Given the description of an element on the screen output the (x, y) to click on. 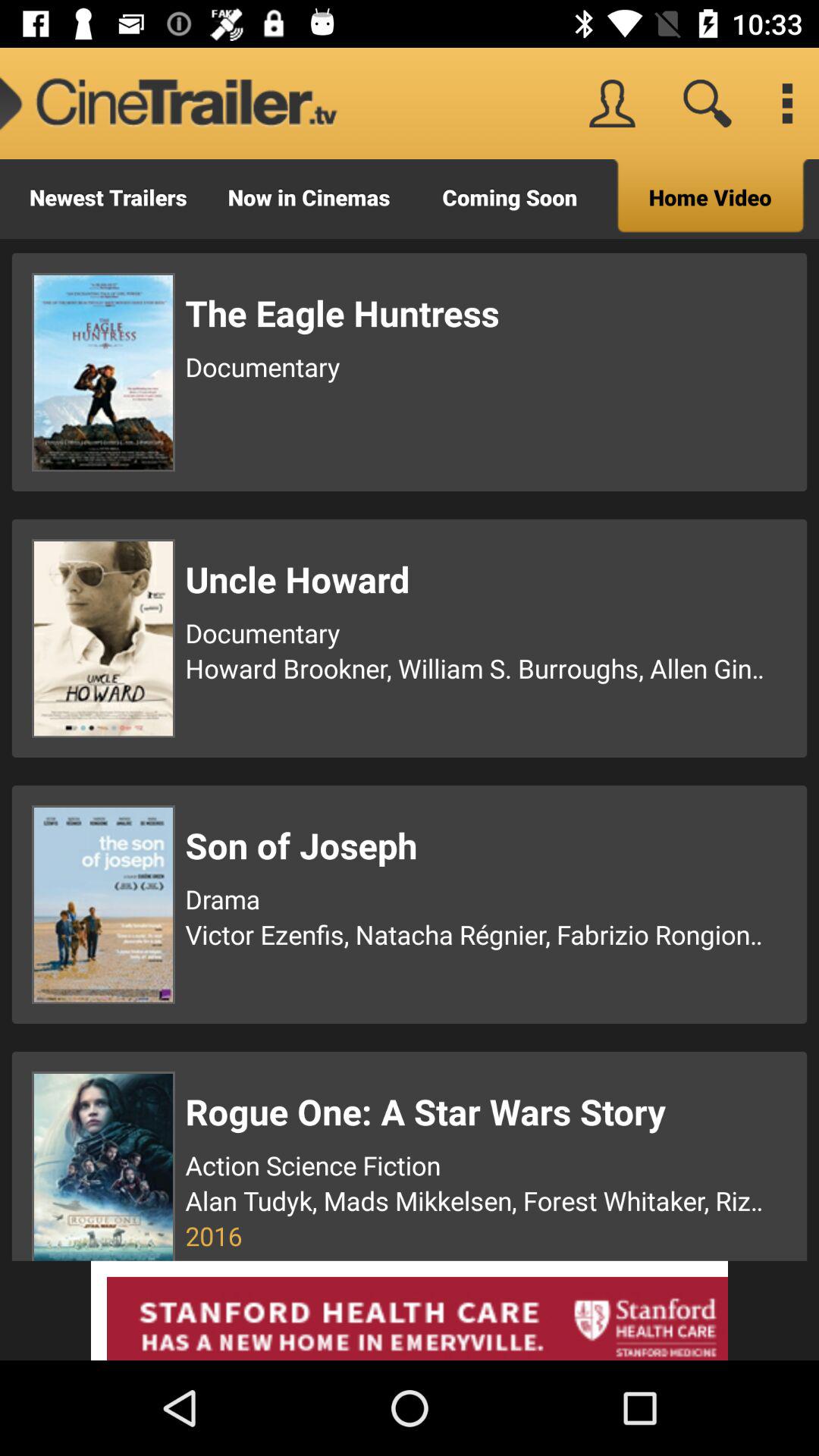
more options (787, 103)
